Given the description of an element on the screen output the (x, y) to click on. 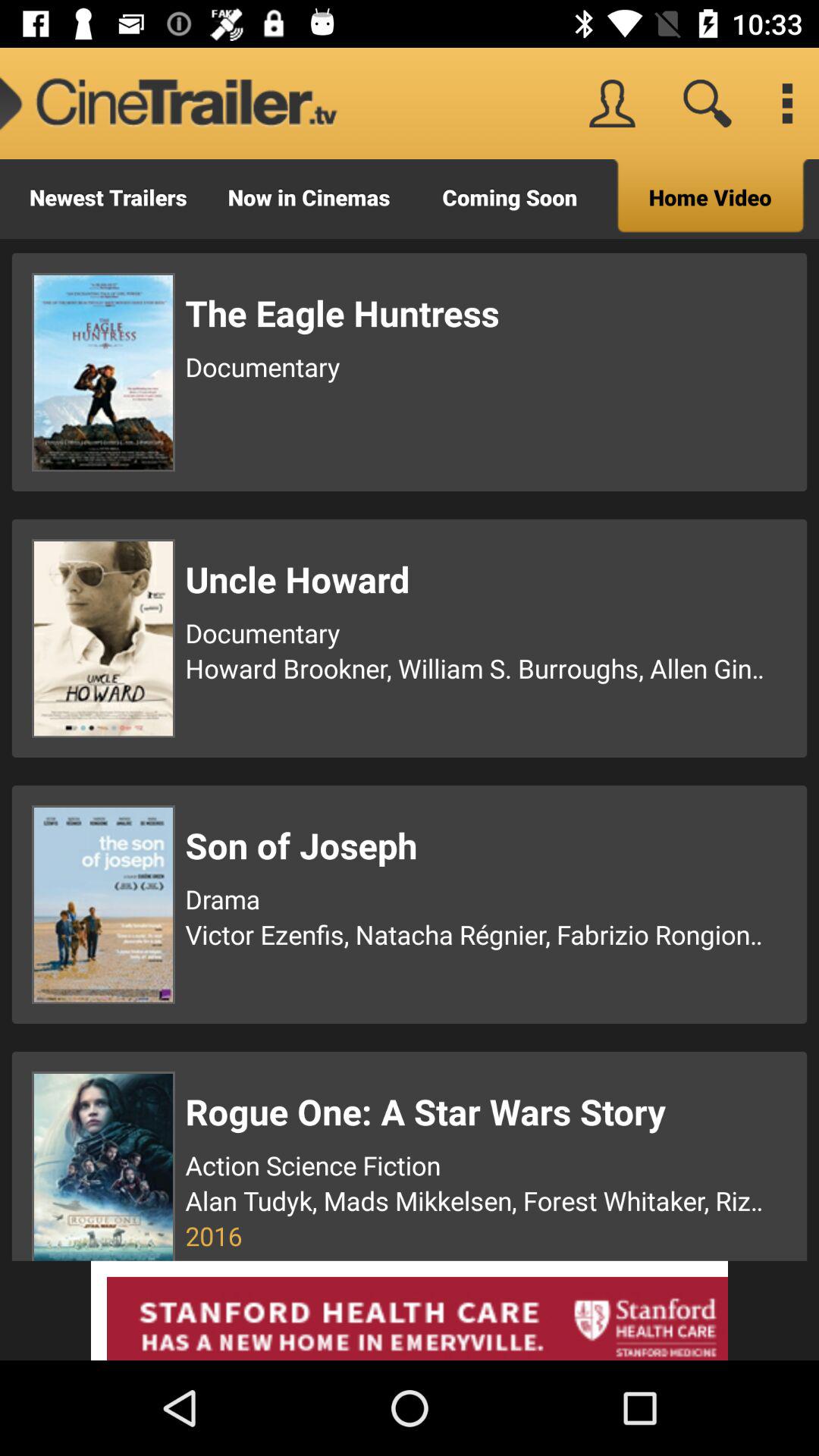
more options (787, 103)
